Given the description of an element on the screen output the (x, y) to click on. 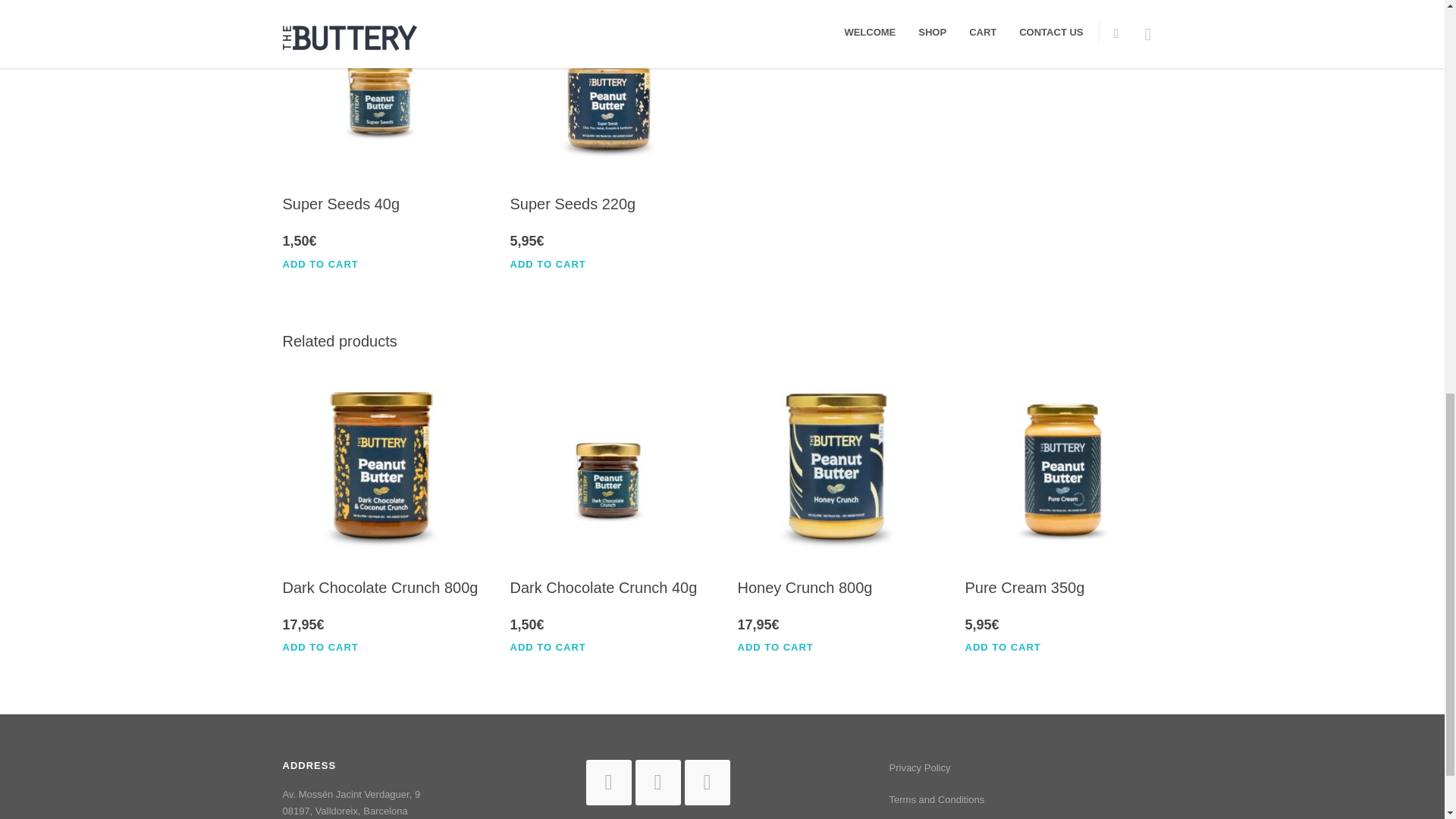
ADD TO CART (327, 264)
